Given the description of an element on the screen output the (x, y) to click on. 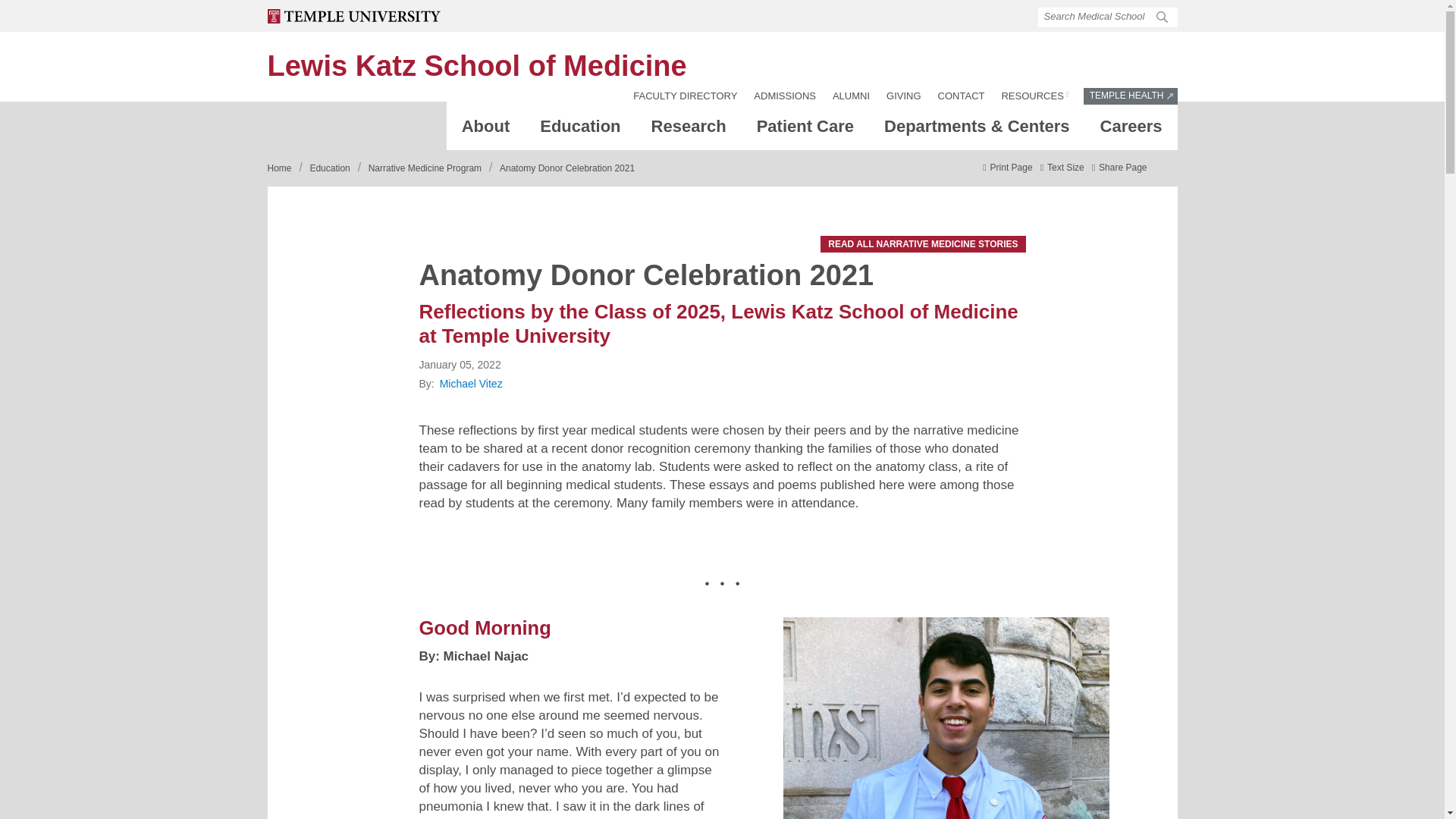
Temple University (352, 15)
Careers (1130, 129)
ADMISSIONS (784, 95)
Research (688, 129)
Home (475, 65)
RESOURCES (1034, 95)
About (485, 129)
GIVING (903, 95)
Education (475, 65)
Michael  (579, 129)
Patient Care (945, 718)
FACULTY DIRECTORY (805, 129)
Temple Health (684, 95)
